Given the description of an element on the screen output the (x, y) to click on. 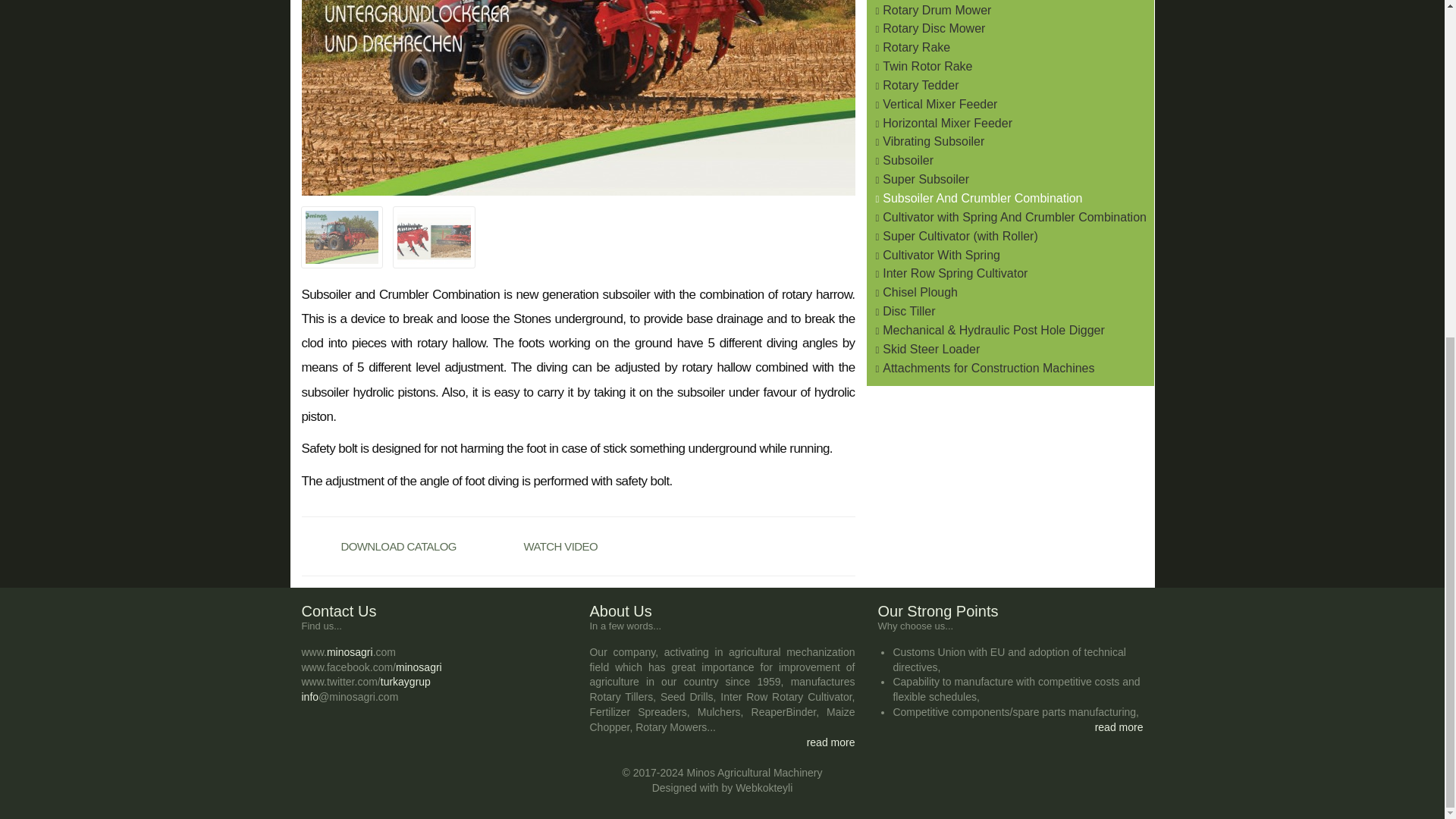
WATCH VIDEO (575, 546)
DOWNLOAD CATALOG (392, 546)
Vertical Mixer Feeder (939, 103)
Rotary Disc Mower (933, 28)
Rotary Tedder (920, 84)
Horizontal Mixer Feeder (946, 123)
Vibrating Subsoiler (933, 141)
Rotary Rake (916, 47)
Twin Rotor Rake (927, 65)
Subsoiler (907, 160)
Rotary Drum Mower (936, 10)
